Given the description of an element on the screen output the (x, y) to click on. 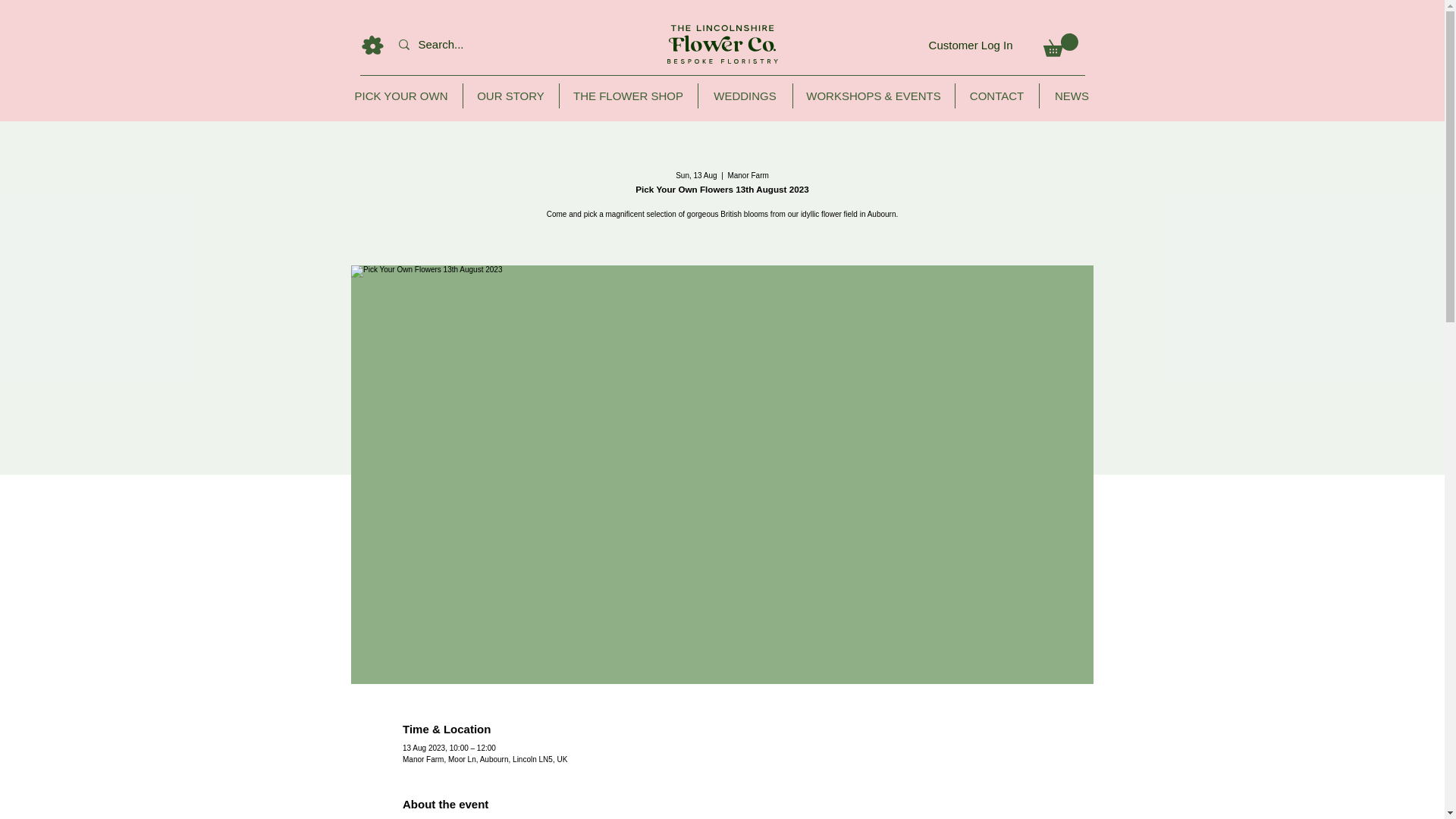
CONTACT (997, 95)
OUR STORY (510, 95)
NEWS (1071, 95)
WEDDINGS (744, 95)
PICK YOUR OWN (400, 95)
THE FLOWER SHOP (628, 95)
Customer Log In (970, 43)
